Given the description of an element on the screen output the (x, y) to click on. 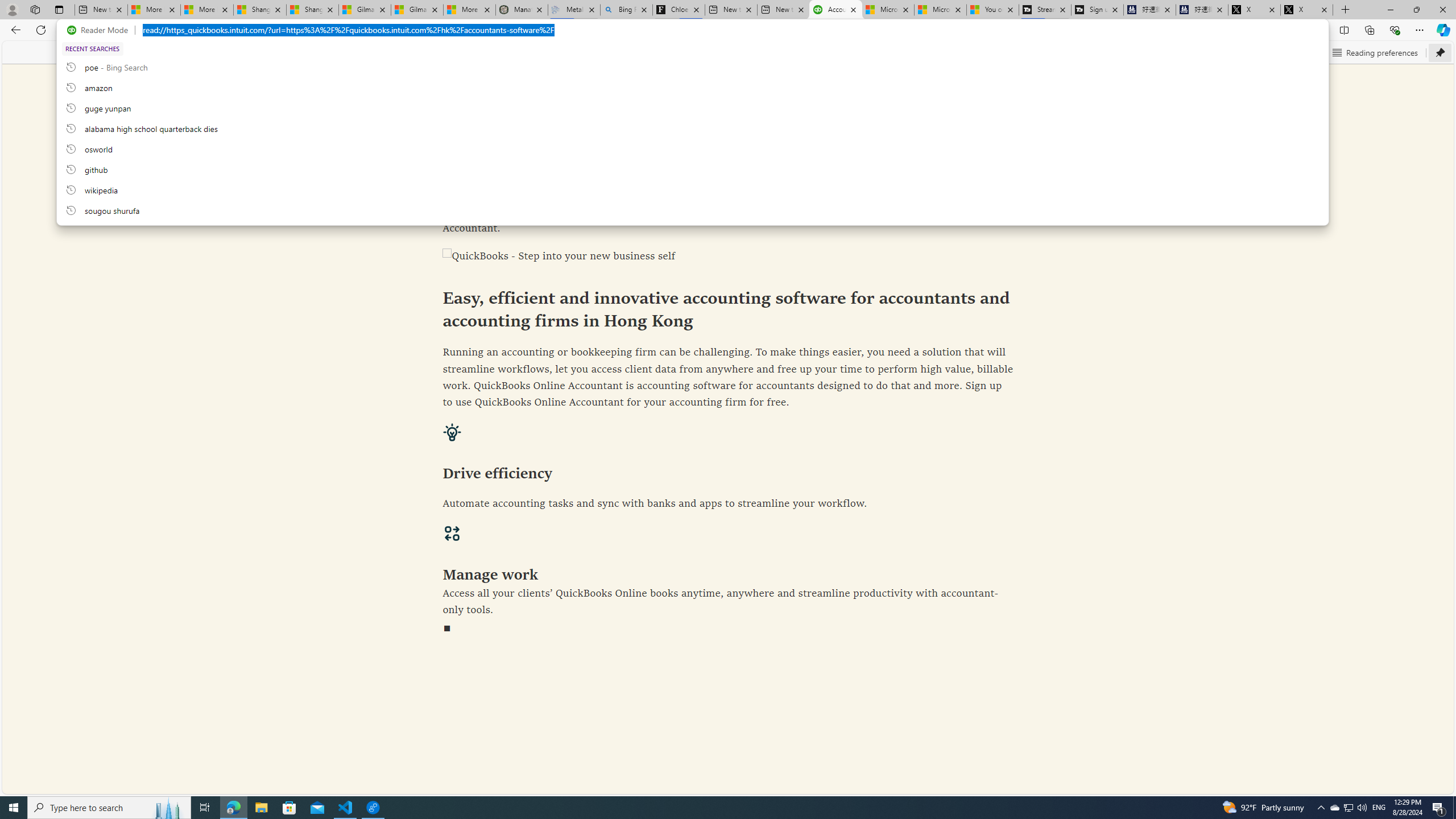
Gilma and Hector both pose tropical trouble for Hawaii (416, 9)
Bing Real Estate - Home sales and rental listings (626, 9)
